Given the description of an element on the screen output the (x, y) to click on. 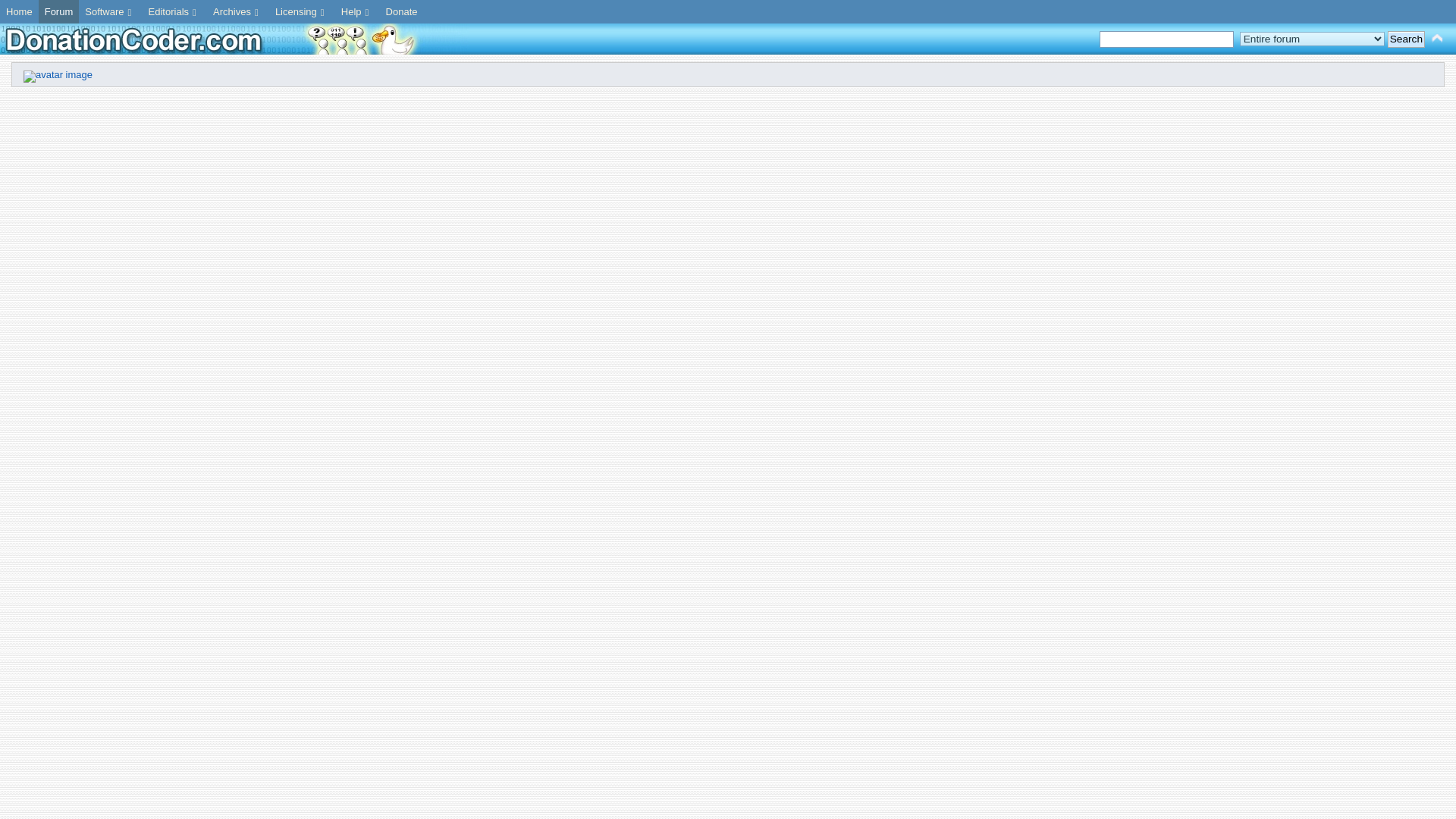
Editorials (174, 11)
Search (1406, 39)
Home (19, 11)
Forum (59, 11)
Archives (237, 11)
Shrink or expand the header. (1436, 38)
Software (109, 11)
click to register on the forum (58, 74)
